Given the description of an element on the screen output the (x, y) to click on. 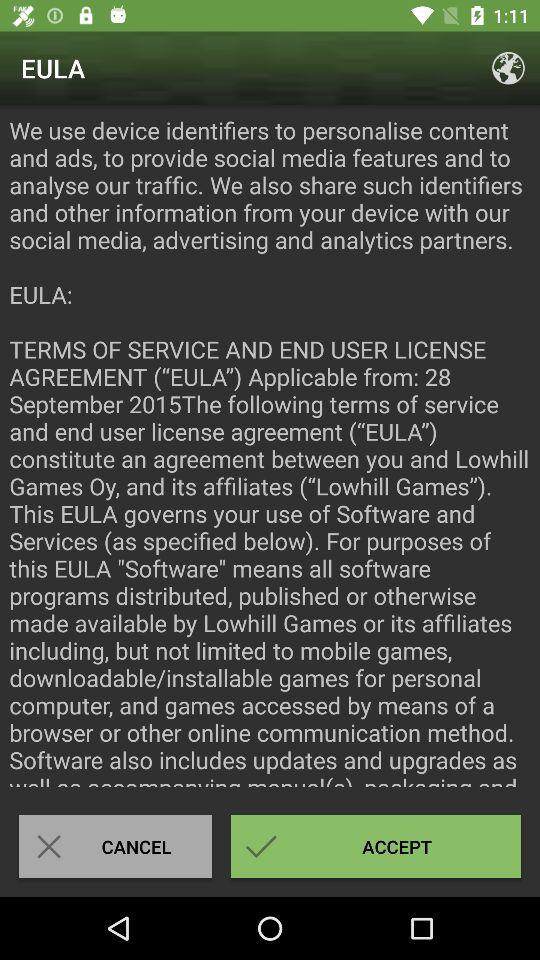
turn on item to the right of the cancel (375, 846)
